Given the description of an element on the screen output the (x, y) to click on. 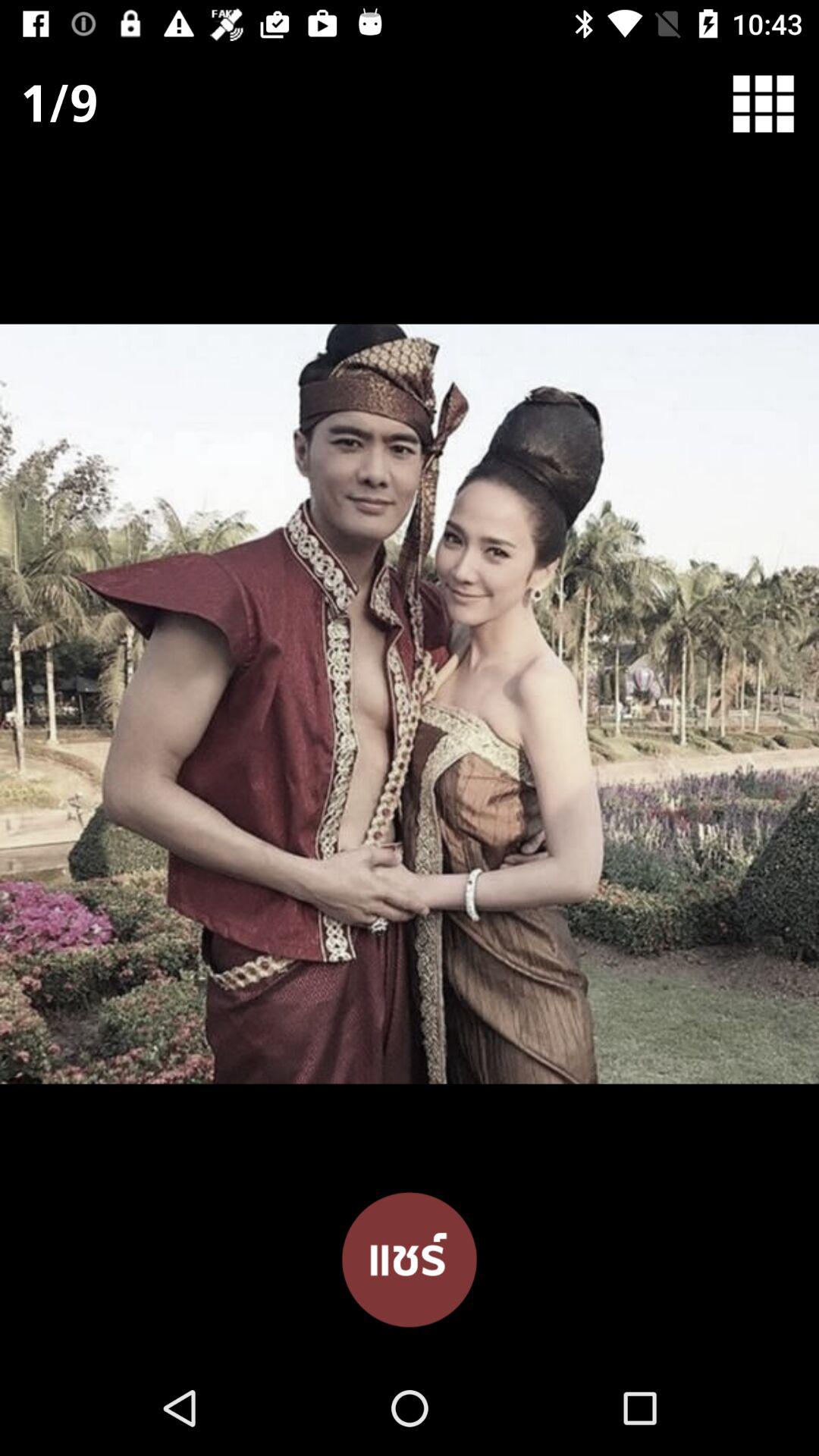
click the square (773, 103)
